Given the description of an element on the screen output the (x, y) to click on. 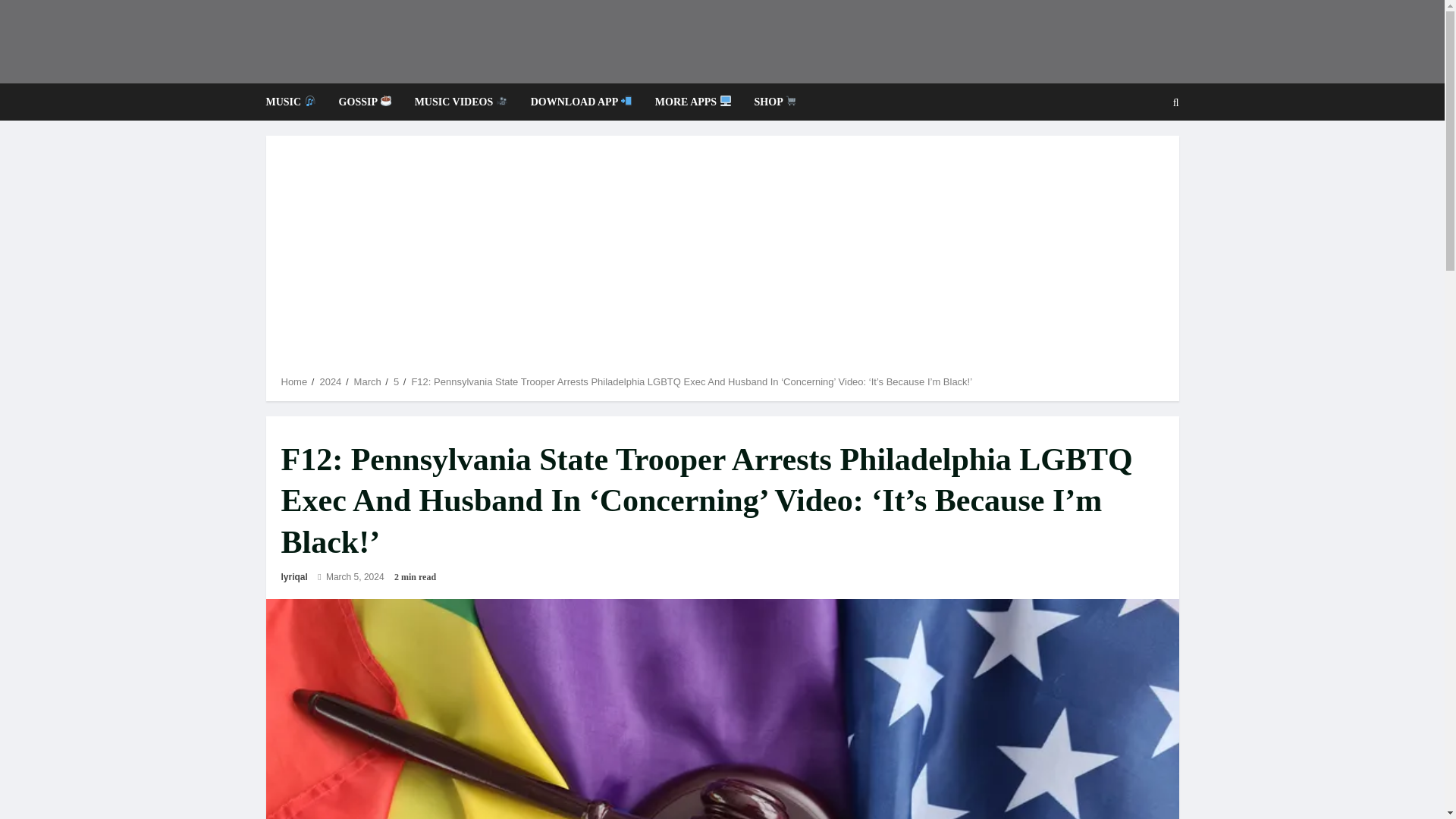
Home (294, 381)
2024 (329, 381)
MUSIC VIDEOS (461, 101)
SHOP (769, 101)
DOWNLOAD APP (581, 101)
lyriqal (294, 576)
MORE APPS (692, 101)
Search (1139, 153)
GOSSIP (365, 101)
MUSIC (295, 101)
